Given the description of an element on the screen output the (x, y) to click on. 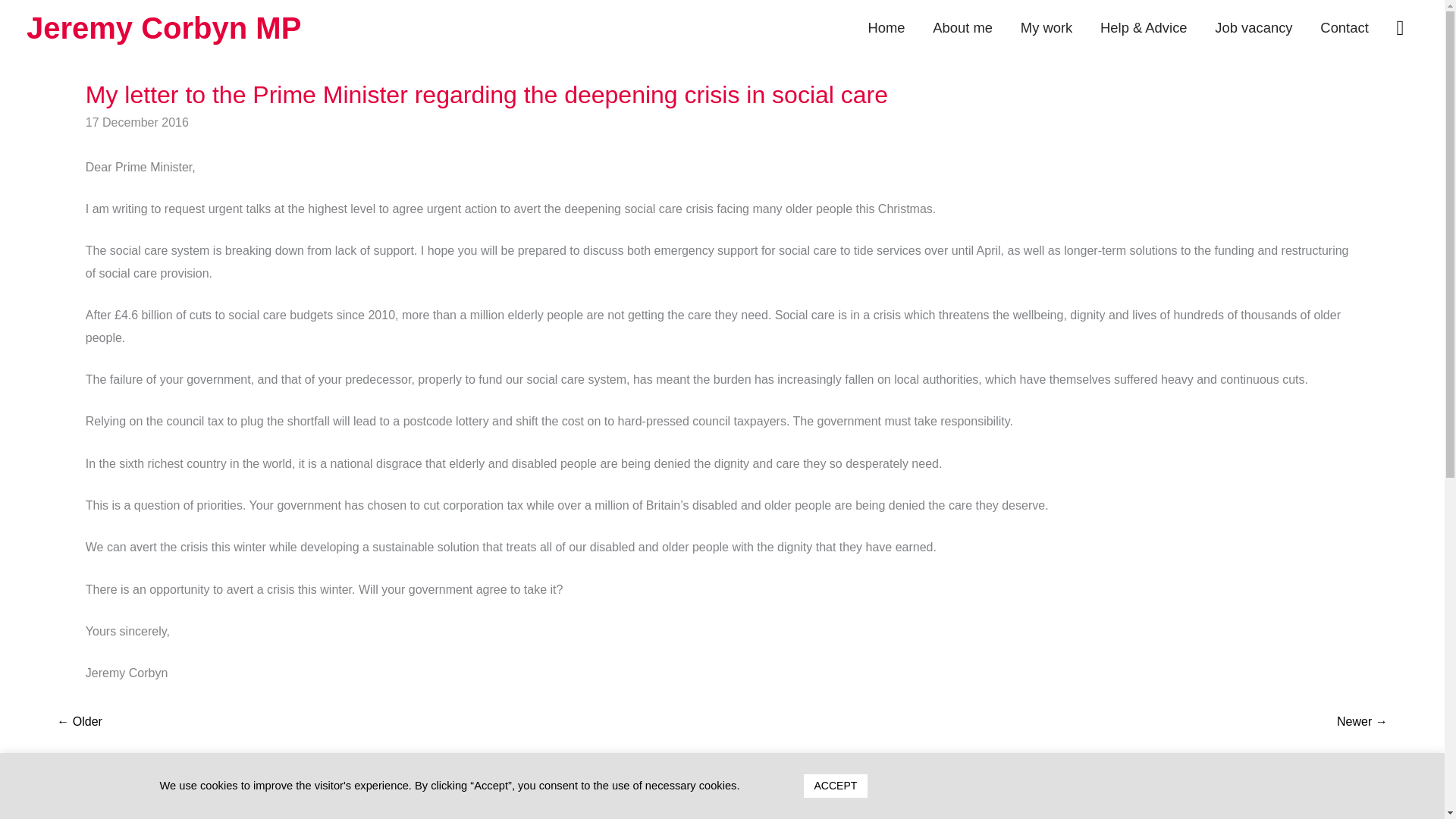
Contact (1343, 28)
About me (962, 28)
ACCEPT (835, 785)
My work (1046, 28)
Job vacancy (1253, 28)
Jeremy Corbyn MP (163, 28)
Search (21, 19)
Home (885, 28)
